Given the description of an element on the screen output the (x, y) to click on. 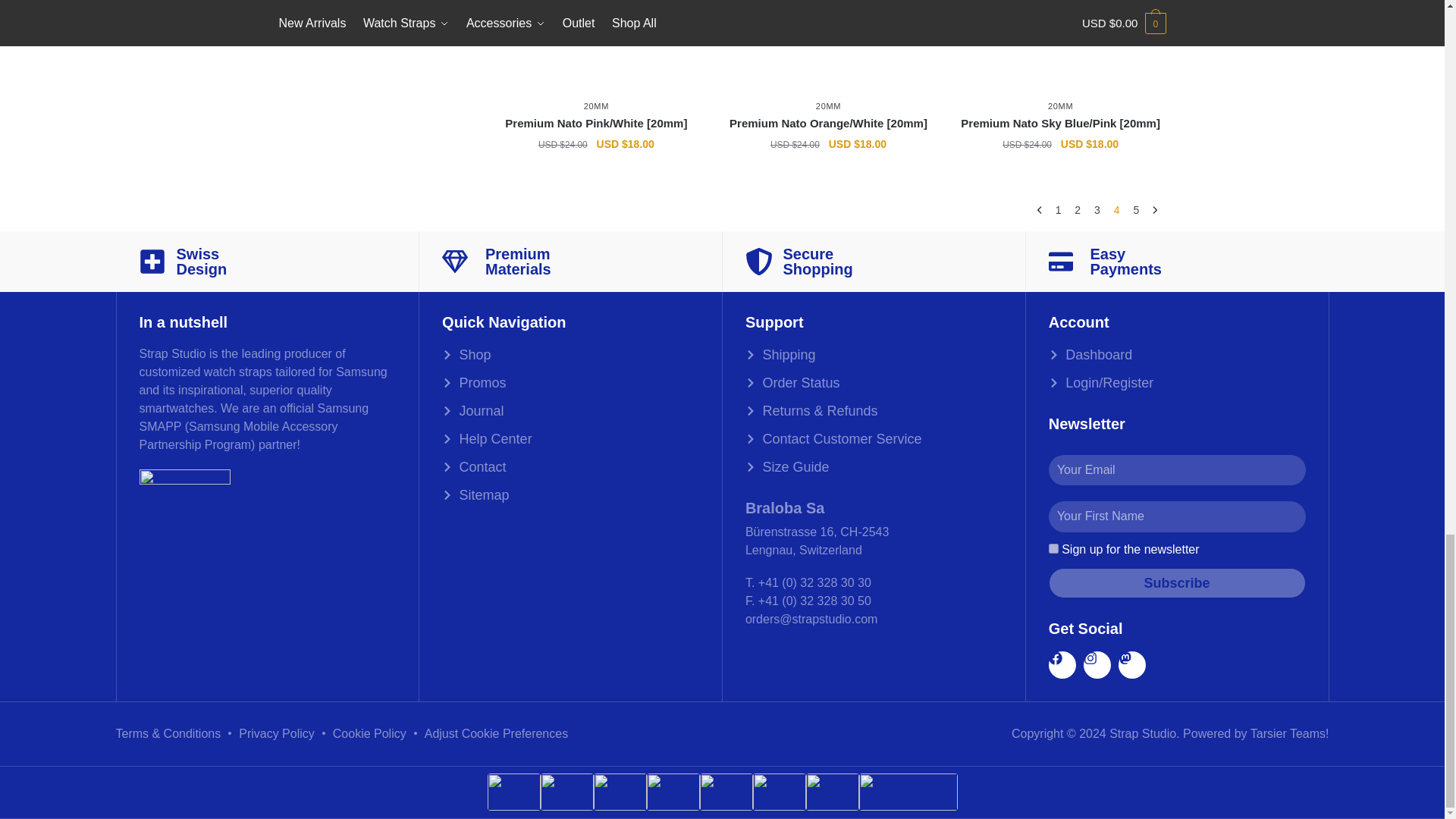
Sign up for the newsletter (1053, 548)
